Given the description of an element on the screen output the (x, y) to click on. 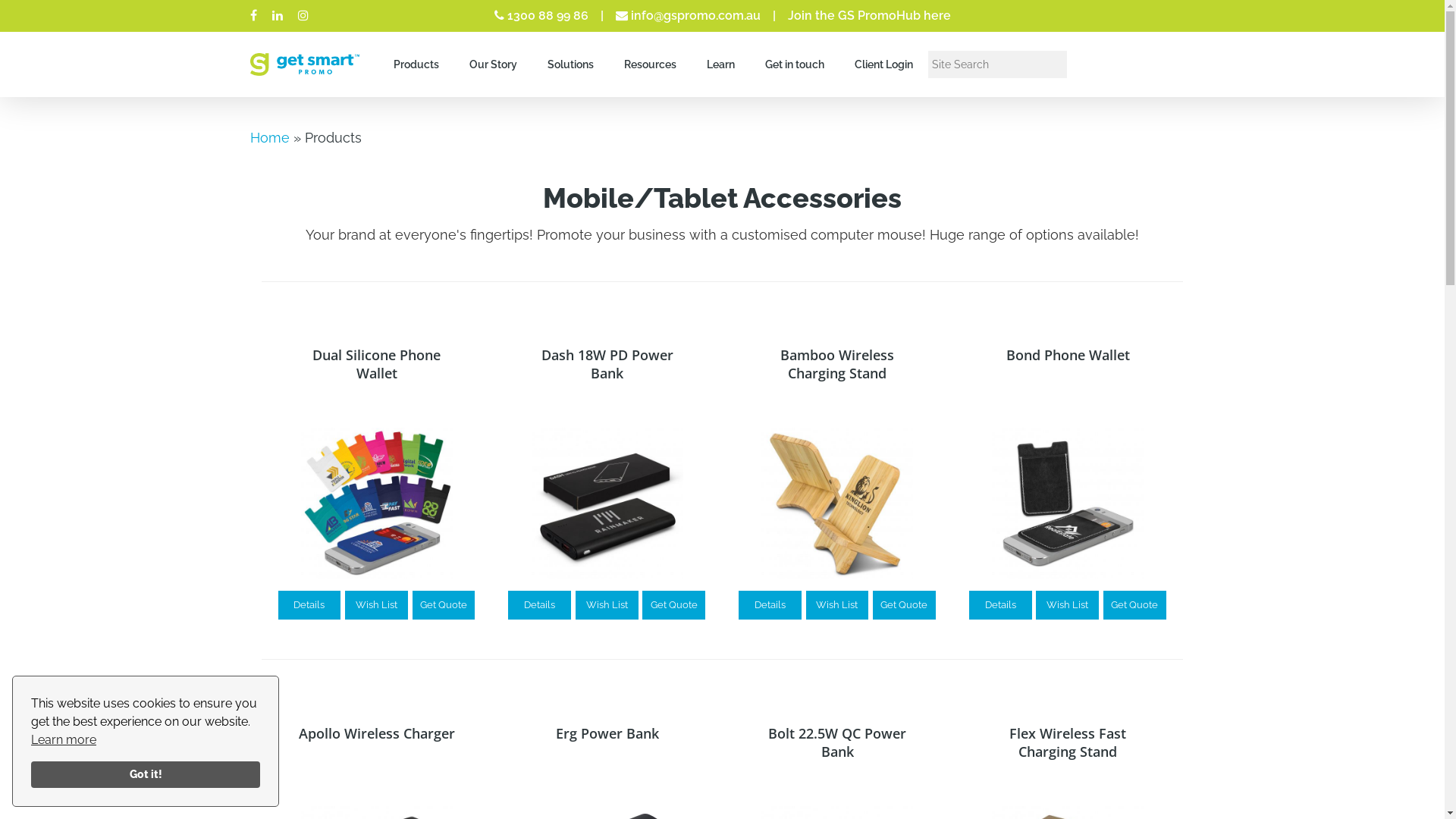
Resources Element type: text (650, 64)
Details Element type: text (1000, 604)
Solutions Element type: text (570, 64)
Learn more Element type: text (63, 740)
info@gspromo.com.au Element type: text (693, 15)
Wish List Element type: text (1066, 604)
Wish List Element type: text (837, 604)
Details Element type: text (769, 604)
facebook Element type: text (253, 15)
Client Login Element type: text (883, 64)
1300 88 99 86 Element type: text (546, 15)
linkedin Element type: text (277, 15)
Get Quote Element type: text (1134, 604)
Home Element type: text (269, 137)
Get Quote Element type: text (443, 604)
Got it! Element type: text (145, 774)
Get Quote Element type: text (903, 604)
Our Story Element type: text (493, 64)
Details Element type: text (539, 604)
Get Quote Element type: text (673, 604)
instagram Element type: text (303, 15)
Learn Element type: text (720, 64)
Join the GS PromoHub here Element type: text (868, 15)
Wish List Element type: text (376, 604)
Products Element type: text (416, 64)
Details Element type: text (309, 604)
Wish List Element type: text (606, 604)
Get in touch Element type: text (794, 64)
